Given the description of an element on the screen output the (x, y) to click on. 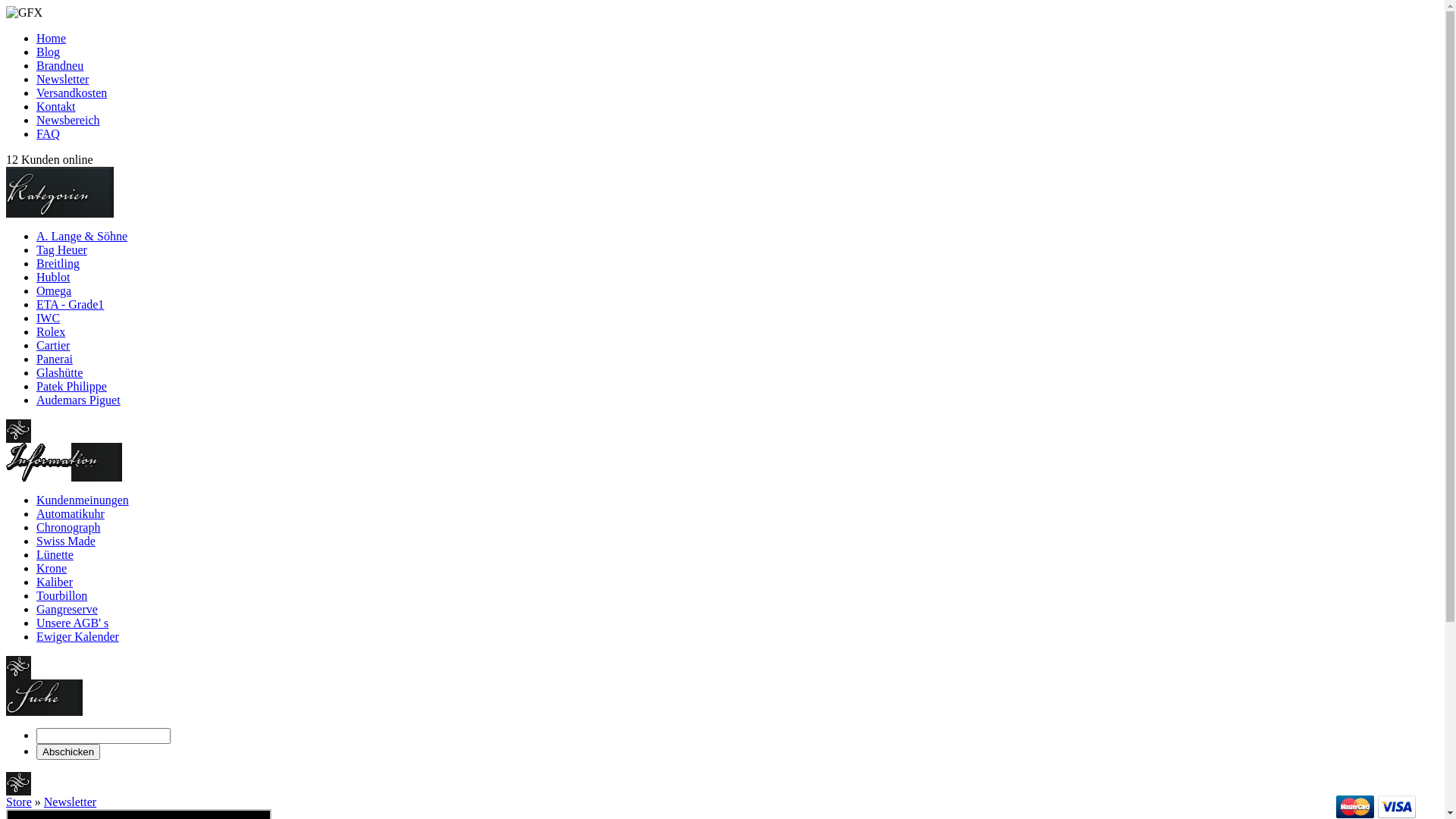
Rolex Element type: text (50, 331)
Swiss Made Element type: text (65, 540)
Omega Element type: text (53, 290)
IWC Element type: text (47, 317)
Unsere AGB' s Element type: text (72, 622)
Kontakt Element type: text (55, 106)
Kaliber Element type: text (54, 581)
Store Element type: text (18, 801)
Breitling Element type: text (57, 263)
Hublot Element type: text (52, 276)
FAQ Element type: text (47, 133)
Panerai Element type: text (54, 358)
Ewiger Kalender Element type: text (77, 636)
ETA - Grade1 Element type: text (69, 304)
Newsletter Element type: text (69, 801)
Audemars Piguet Element type: text (78, 399)
Versandkosten Element type: text (71, 92)
Home Element type: text (50, 37)
Krone Element type: text (51, 567)
Tourbillon Element type: text (61, 595)
Tag Heuer Element type: text (61, 249)
Newsbereich Element type: text (68, 119)
Newsletter Element type: text (62, 78)
Patek Philippe Element type: text (71, 385)
Abschicken Element type: text (68, 751)
Brandneu Element type: text (59, 65)
Cartier Element type: text (52, 344)
Gangreserve Element type: text (66, 608)
Chronograph Element type: text (68, 526)
Automatikuhr Element type: text (70, 513)
Blog Element type: text (47, 51)
Kundenmeinungen Element type: text (82, 499)
